Given the description of an element on the screen output the (x, y) to click on. 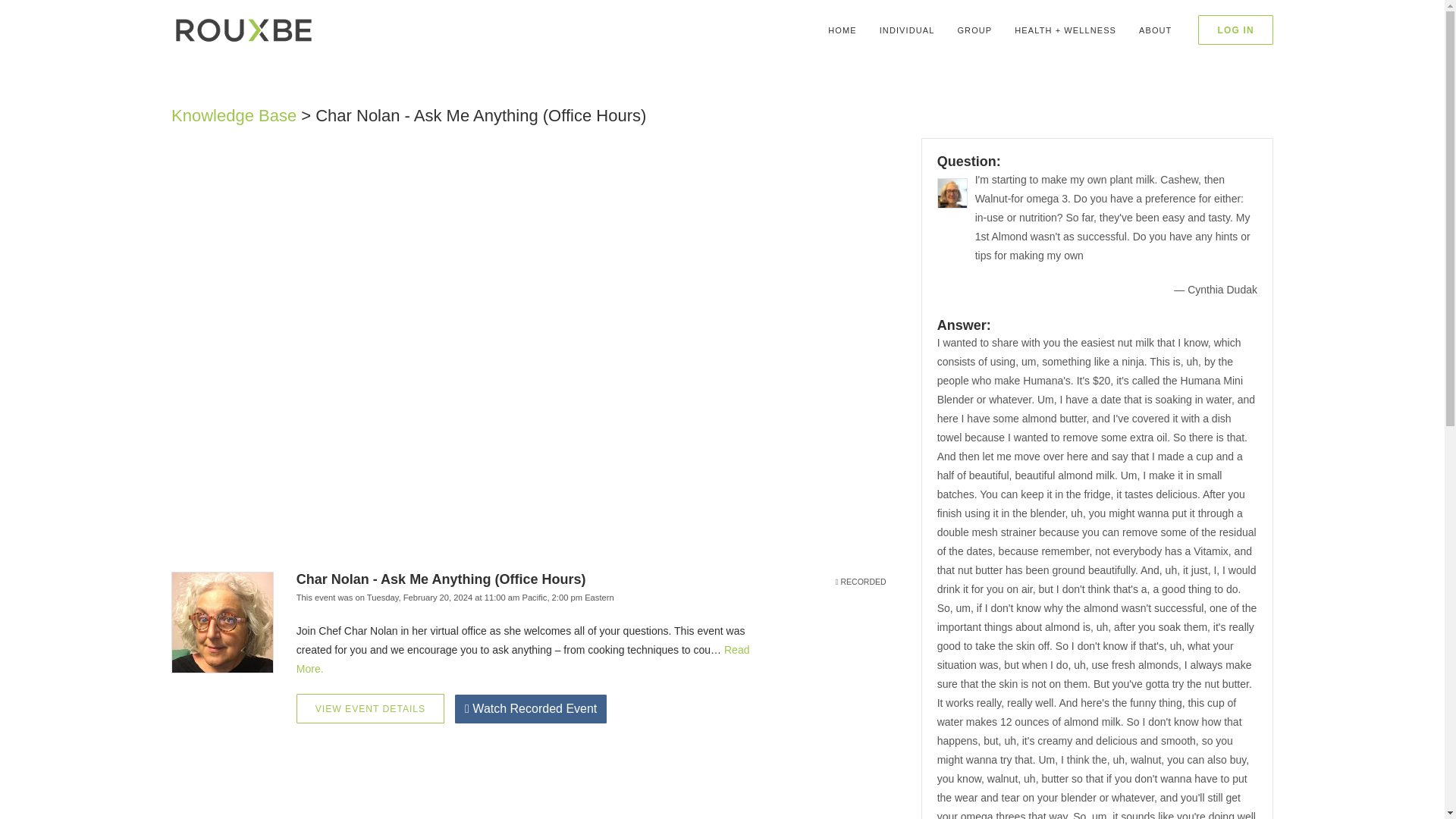
ABOUT (1154, 30)
LOG IN (1235, 30)
Watch Recorded Event (530, 708)
GROUP (973, 30)
VIEW EVENT DETAILS (370, 708)
Cynthia  D (952, 193)
Read More. (523, 658)
Knowledge Base (234, 115)
INDIVIDUAL (906, 30)
